Given the description of an element on the screen output the (x, y) to click on. 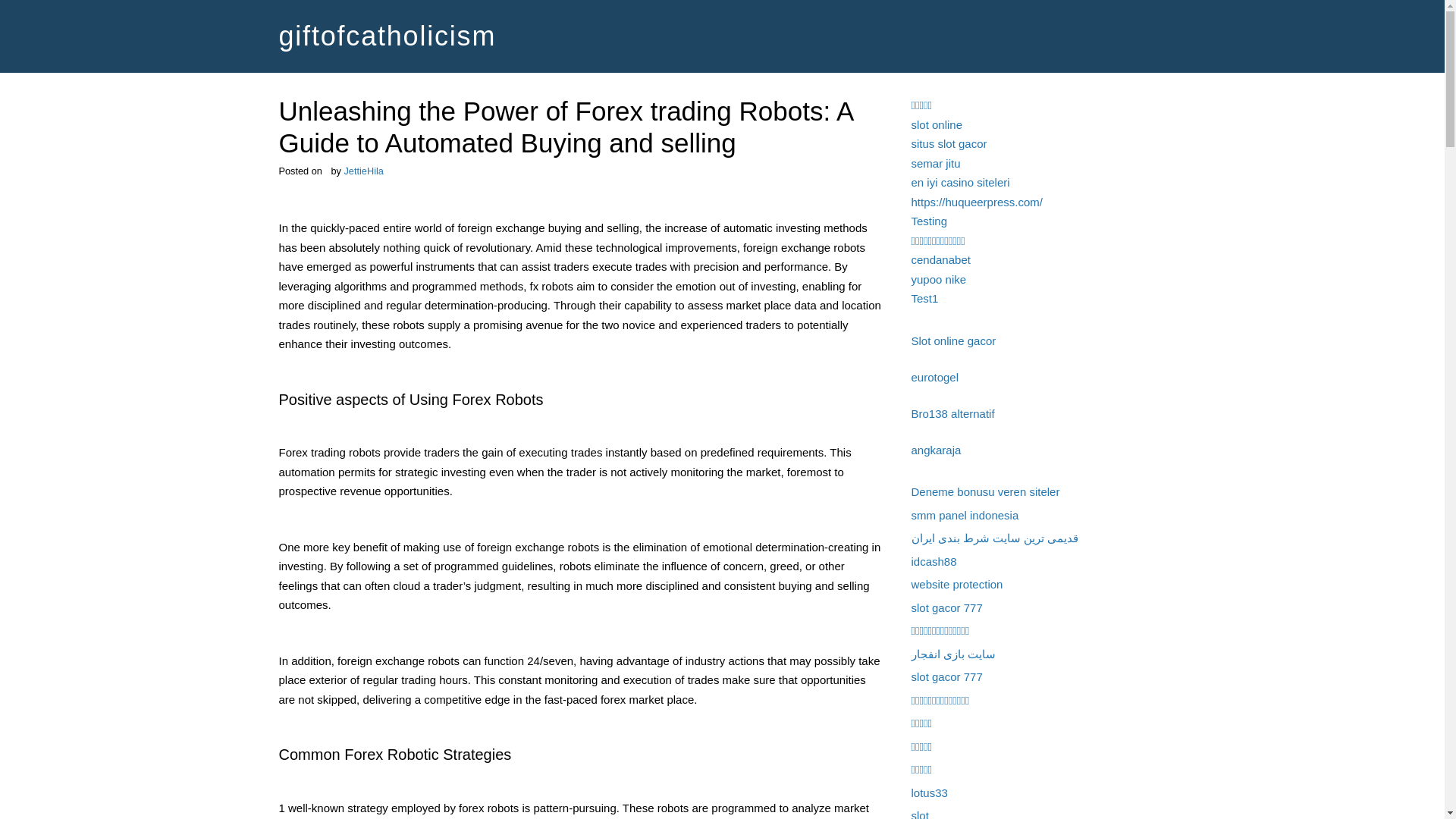
cendanabet (941, 259)
idcash88 (933, 561)
slot gacor 777 (946, 606)
angkaraja (935, 449)
Deneme bonusu veren siteler (985, 491)
yupoo nike (938, 278)
slot online (936, 124)
smm panel indonesia (965, 513)
website protection (957, 584)
semar jitu (935, 162)
